Given the description of an element on the screen output the (x, y) to click on. 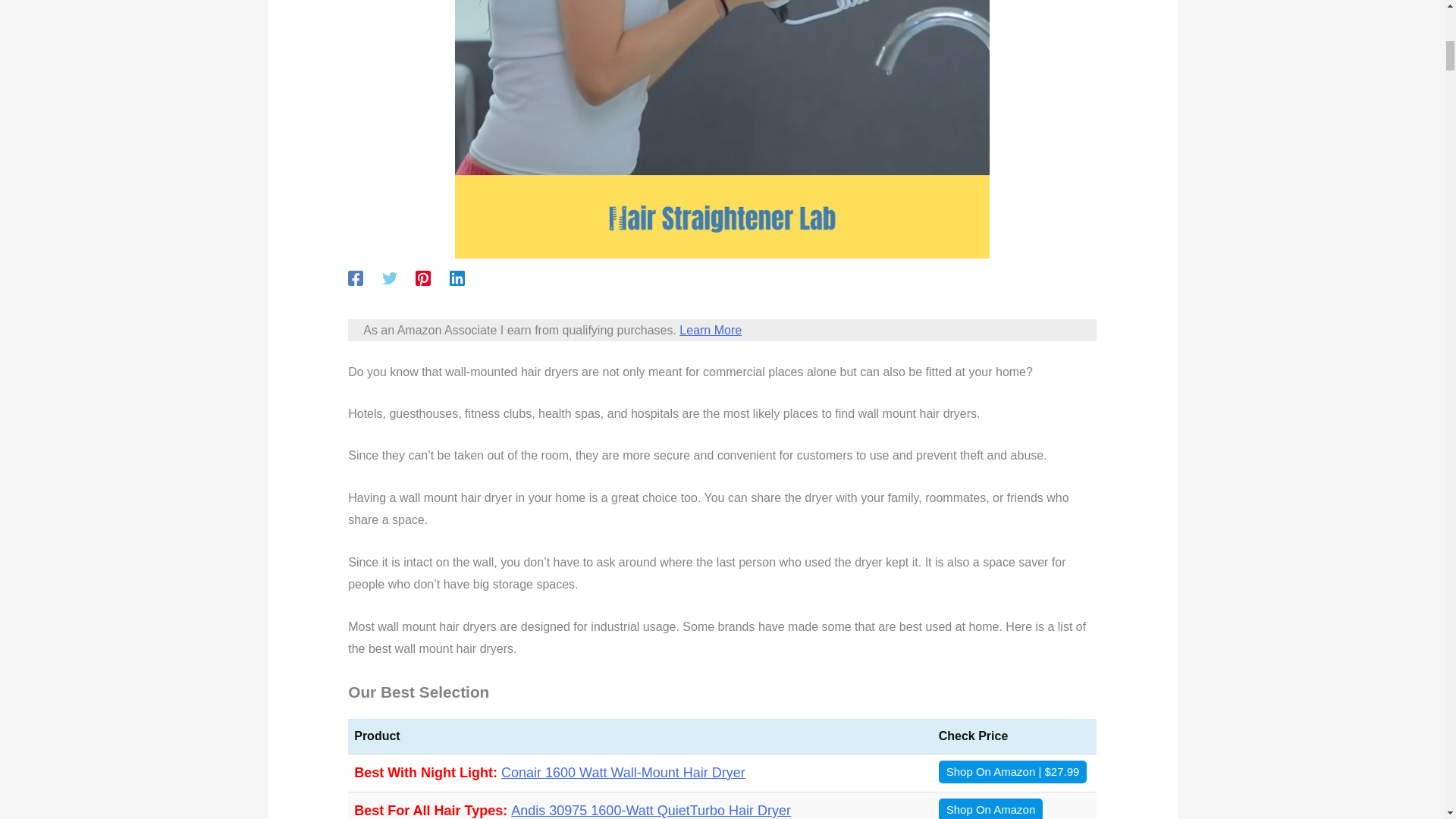
Learn More (710, 329)
Shop On Amazon (991, 808)
Andis 30975 1600-Watt QuietTurbo Hair Dryer (650, 810)
Conair 1600 Watt Wall-Mount Hair Dryer (622, 772)
